Given the description of an element on the screen output the (x, y) to click on. 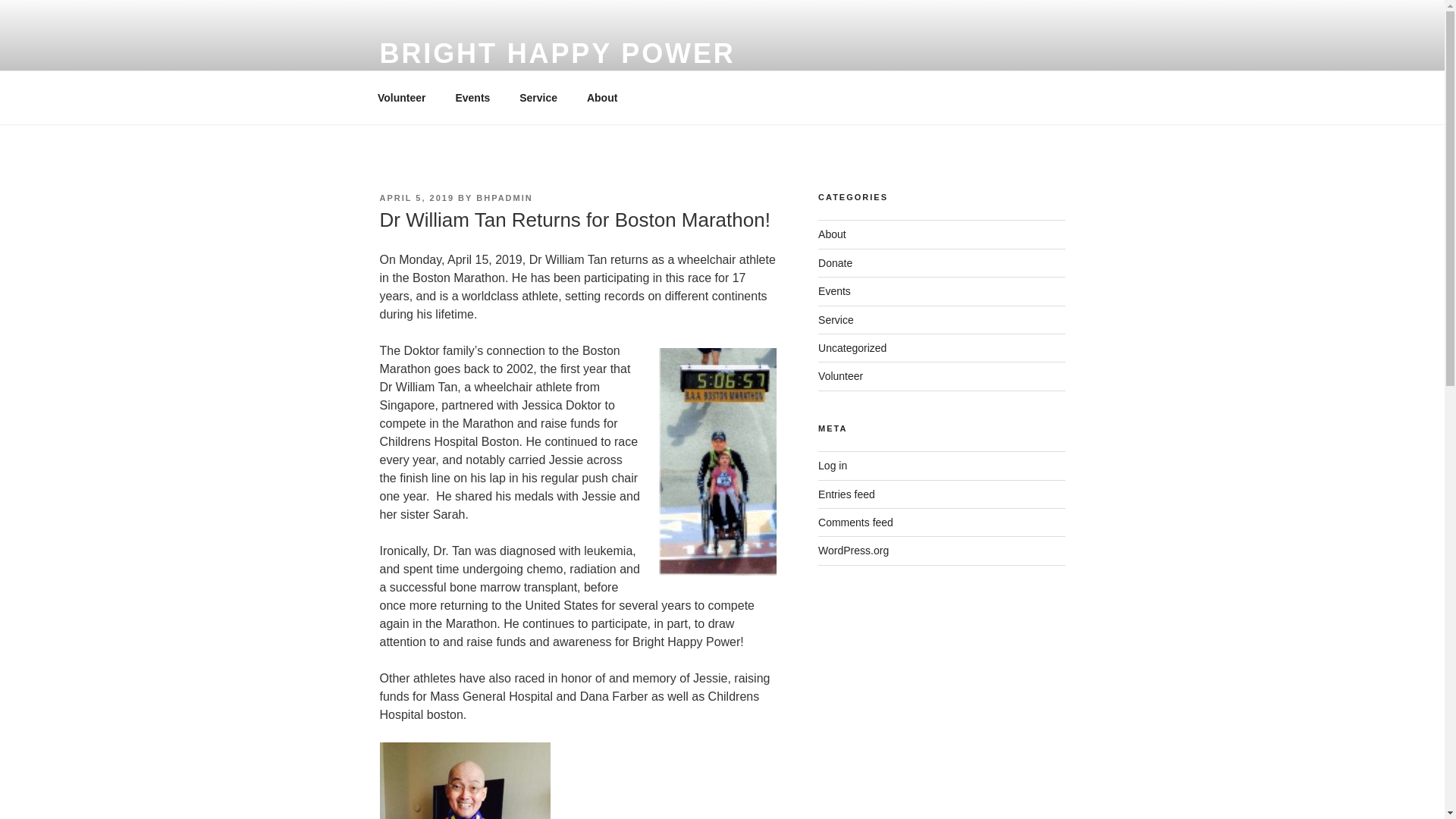
Volunteer (401, 97)
BRIGHT HAPPY POWER (556, 52)
About (831, 234)
Service (538, 97)
About (601, 97)
Entries feed (846, 494)
Service (835, 319)
BHPADMIN (504, 197)
Log in (832, 465)
Uncategorized (852, 347)
Events (834, 291)
Comments feed (855, 522)
APRIL 5, 2019 (416, 197)
WordPress.org (853, 550)
Events (472, 97)
